Given the description of an element on the screen output the (x, y) to click on. 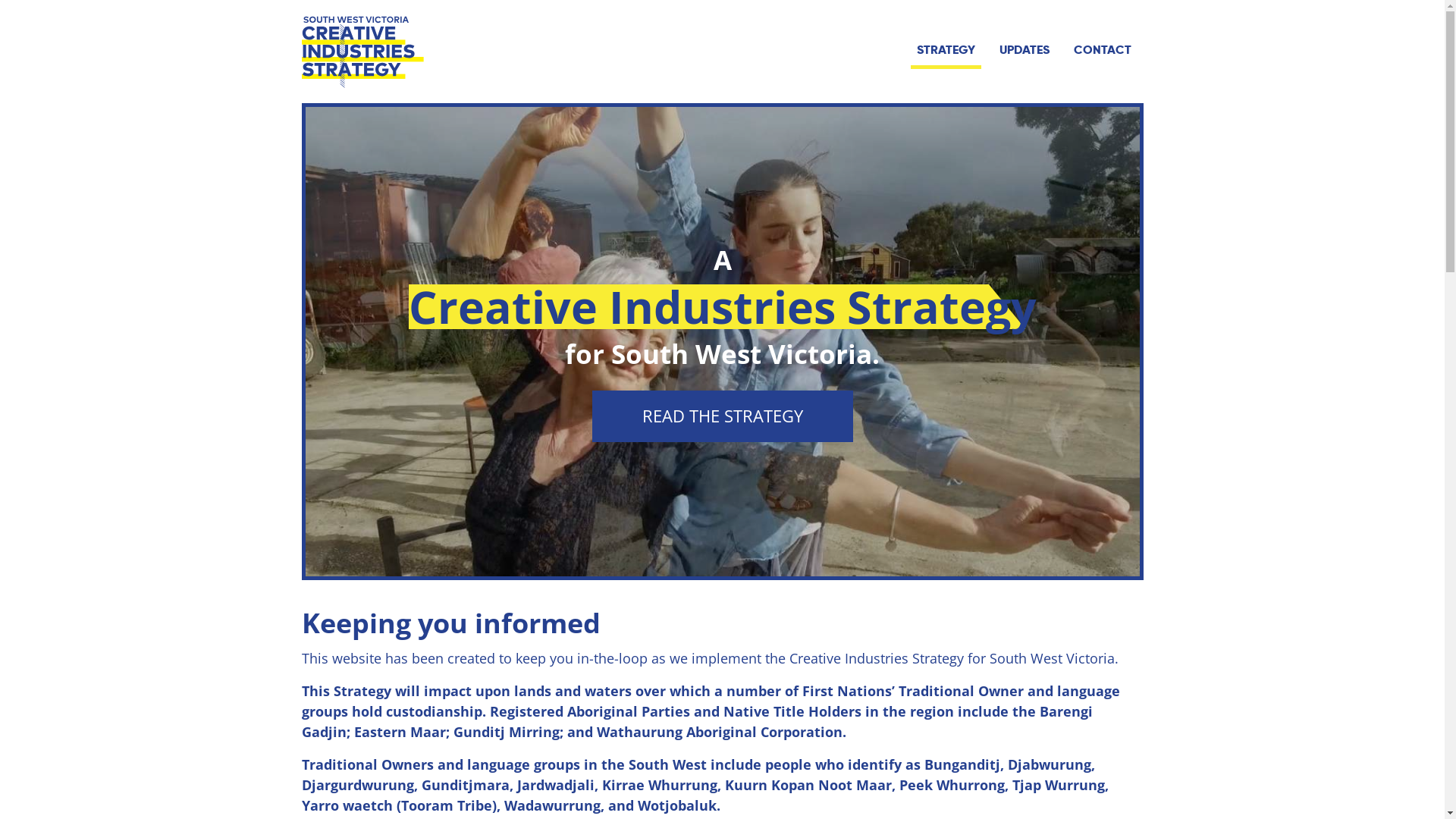
READ THE STRATEGY Element type: text (721, 416)
UPDATES Element type: text (1024, 49)
CONTACT Element type: text (1102, 49)
STRATEGY Element type: text (945, 51)
